Given the description of an element on the screen output the (x, y) to click on. 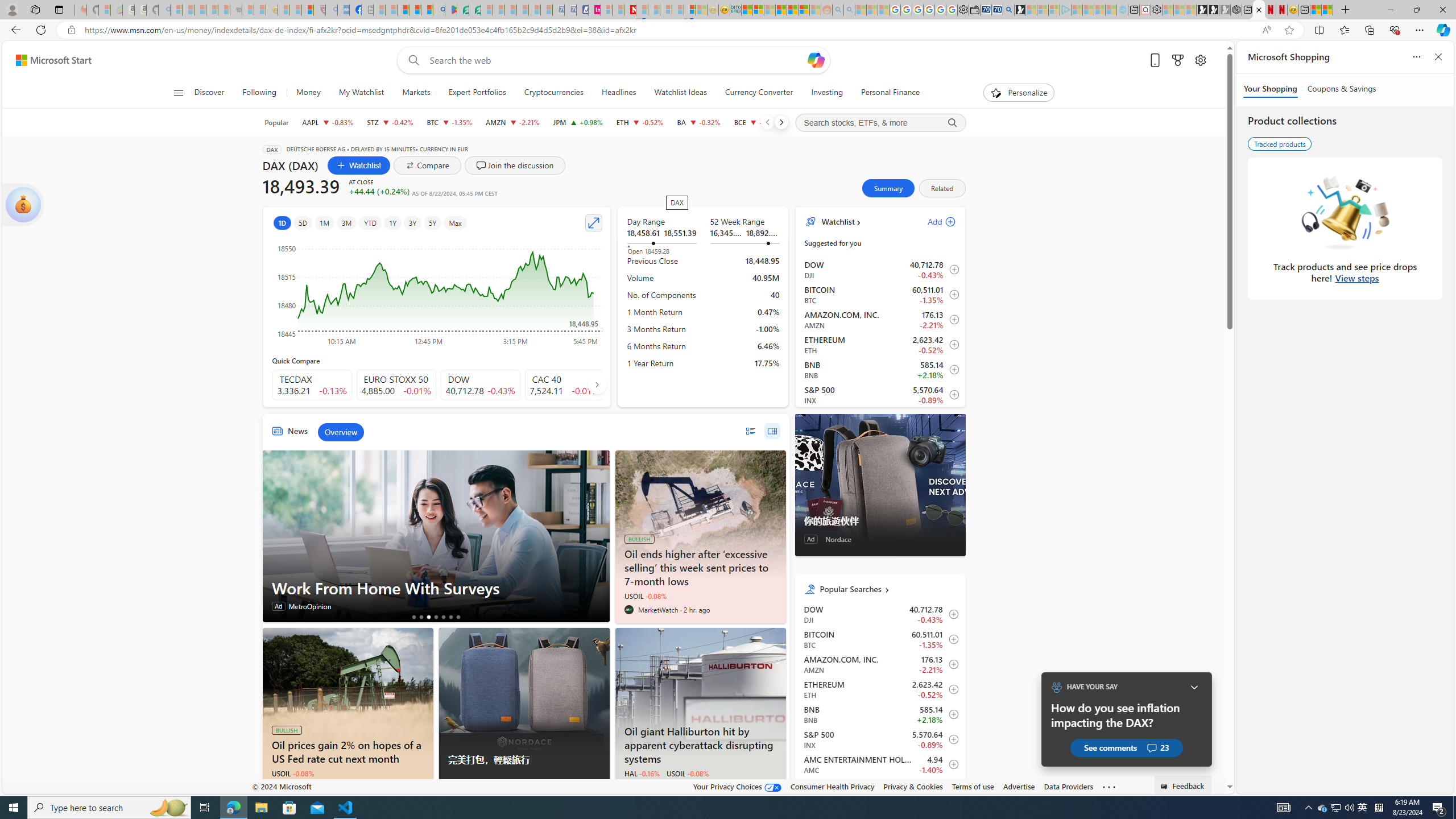
Microsoft Word - consumer-privacy address update 2.2021 (475, 9)
Expert Portfolios (477, 92)
ETH Ethereum decrease 2,623.42 -13.69 -0.52% itemundefined (879, 688)
MarketWatch (628, 609)
BNB BNB increase 585.14 +12.76 +2.18% itemundefined (879, 714)
